Given the description of an element on the screen output the (x, y) to click on. 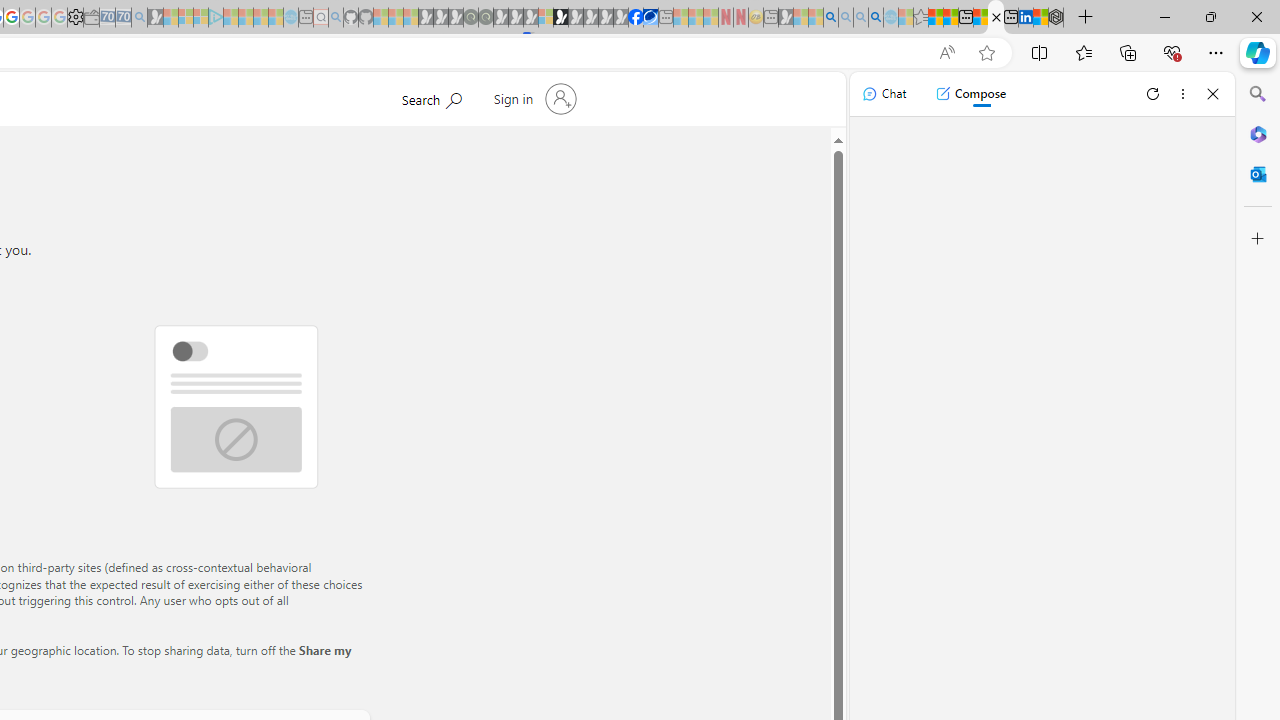
Google Chrome Internet Browser Download - Search Images (876, 17)
Bing AI - Search (831, 17)
